Given the description of an element on the screen output the (x, y) to click on. 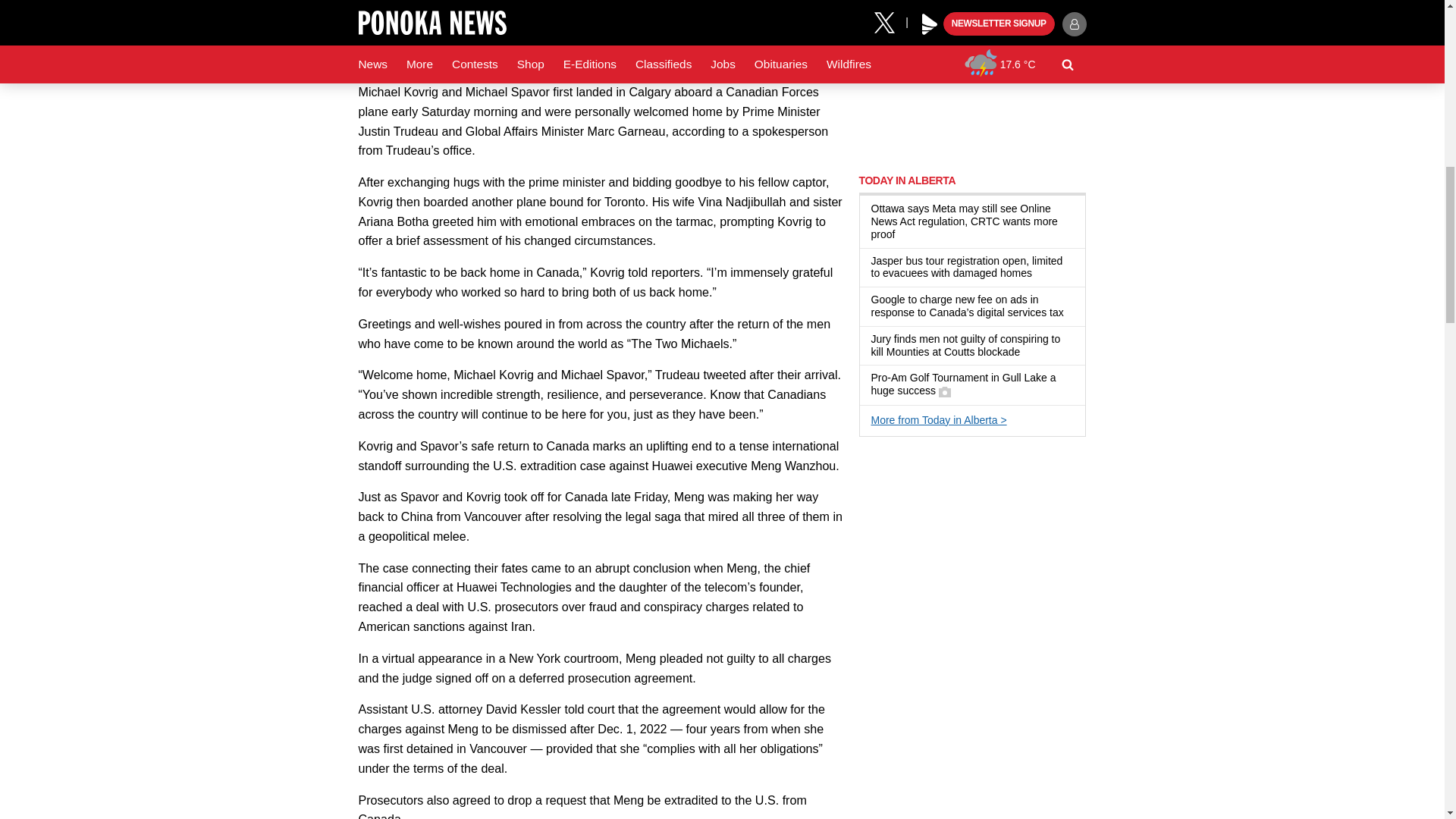
Has a gallery (944, 391)
